Given the description of an element on the screen output the (x, y) to click on. 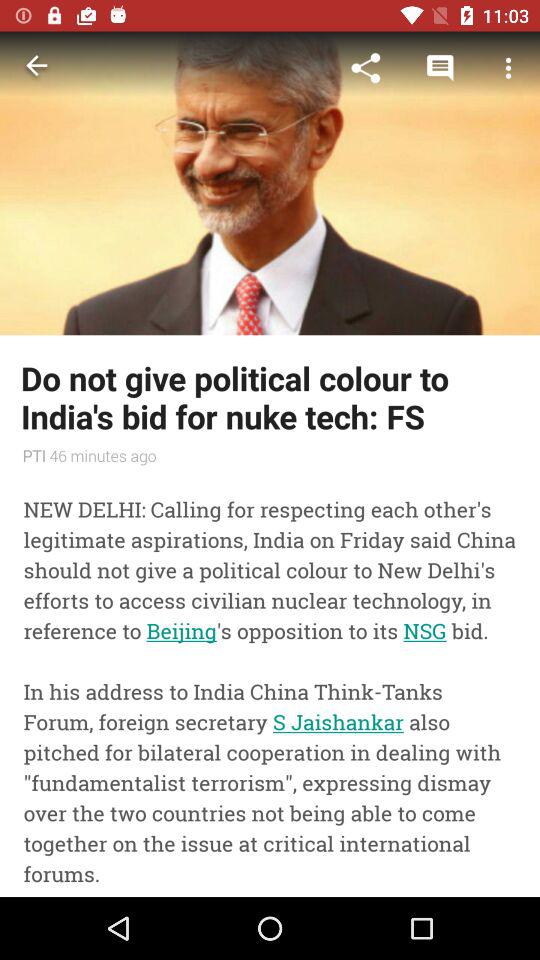
choose the icon at the top left corner (36, 68)
